Given the description of an element on the screen output the (x, y) to click on. 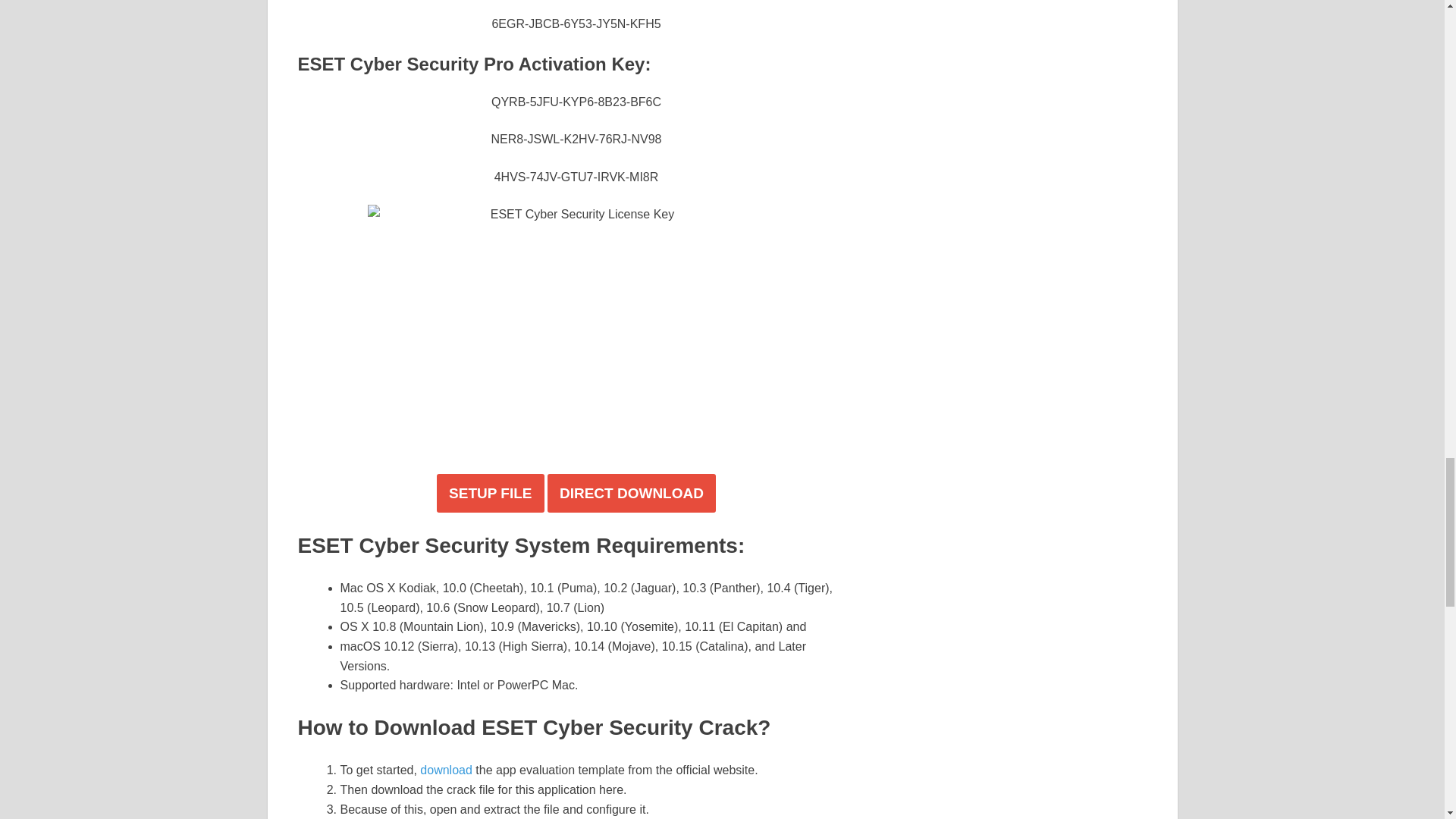
SETUP FILE DIRECT DOWNLOAD (576, 493)
SETUP FILE (489, 493)
download (445, 769)
DIRECT DOWNLOAD (631, 493)
